Given the description of an element on the screen output the (x, y) to click on. 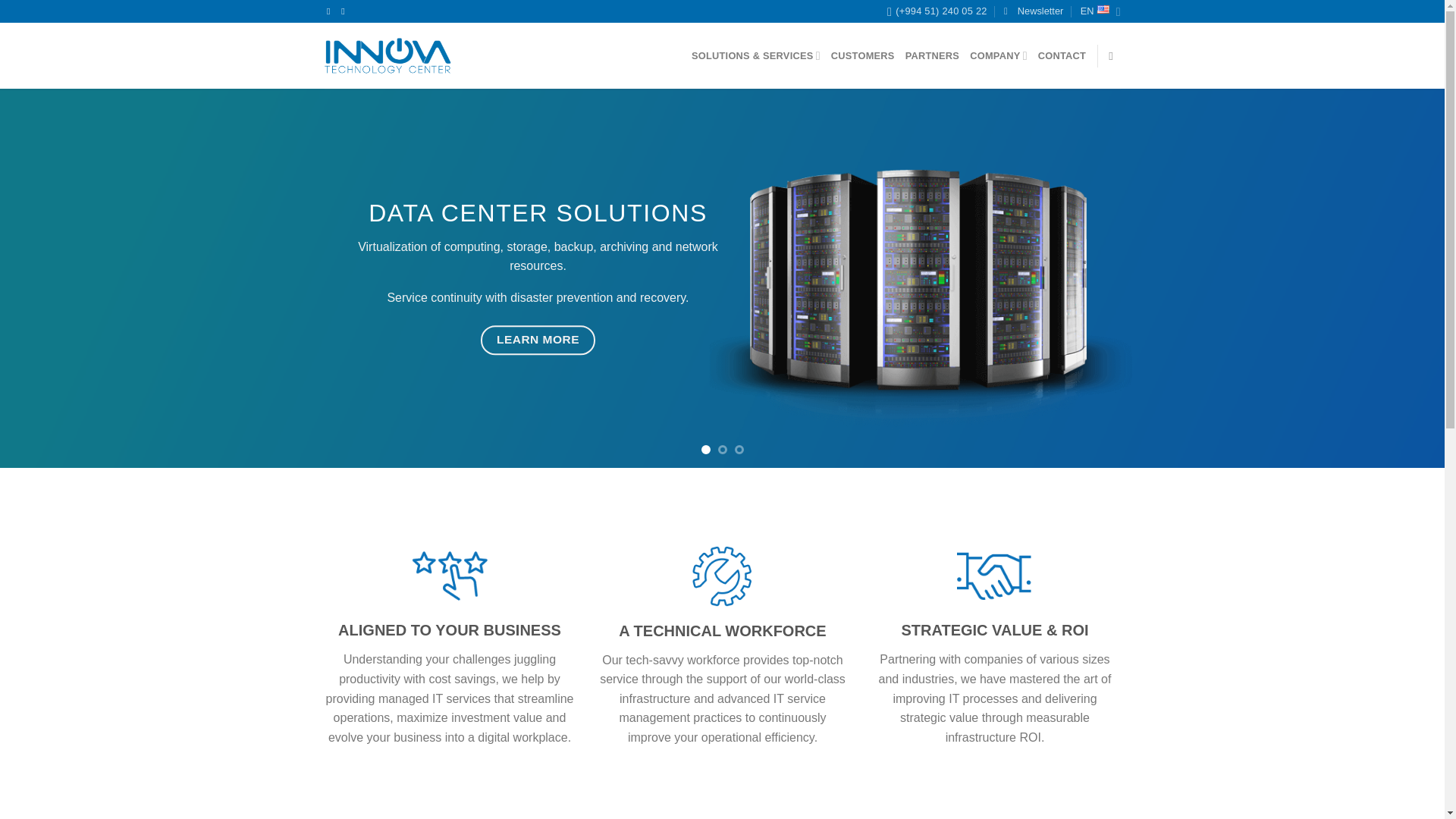
EN (1100, 11)
LEARN MORE (537, 340)
CUSTOMERS (863, 55)
Innova Technology Center - Technology you can trust (388, 55)
CONTACT (1062, 55)
Newsletter (1033, 11)
PARTNERS (932, 55)
COMPANY (998, 55)
